Given the description of an element on the screen output the (x, y) to click on. 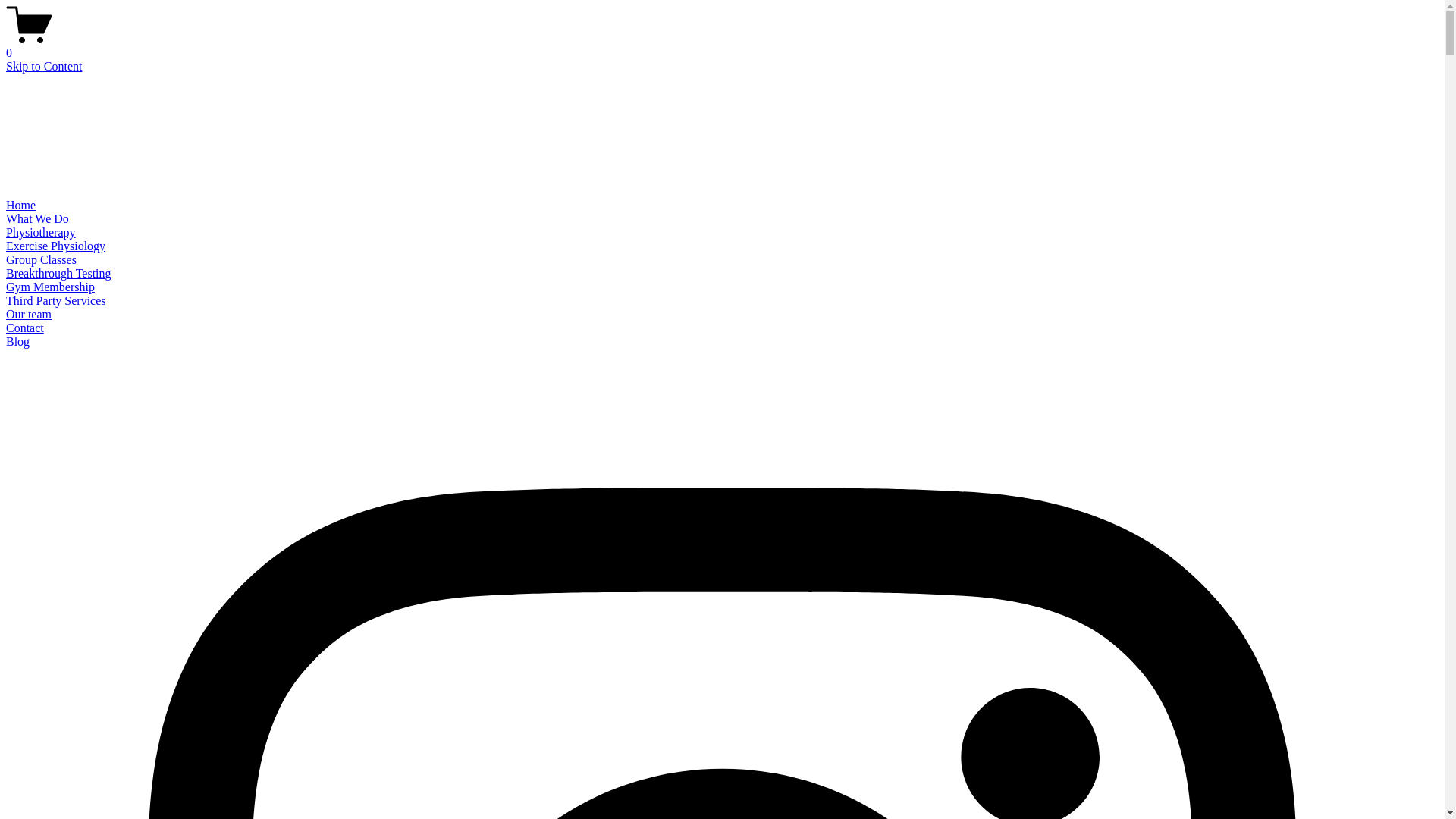
Physiotherapy Element type: text (40, 231)
Exercise Physiology Element type: text (55, 245)
Breakthrough Testing Element type: text (58, 272)
Gym Membership Element type: text (50, 286)
What We Do Element type: text (37, 218)
Skip to Content Element type: text (43, 65)
Our team Element type: text (28, 313)
Group Classes Element type: text (41, 259)
Contact Element type: text (24, 327)
Third Party Services Element type: text (56, 300)
Blog Element type: text (17, 341)
Home Element type: text (20, 204)
0 Element type: text (722, 45)
